Given the description of an element on the screen output the (x, y) to click on. 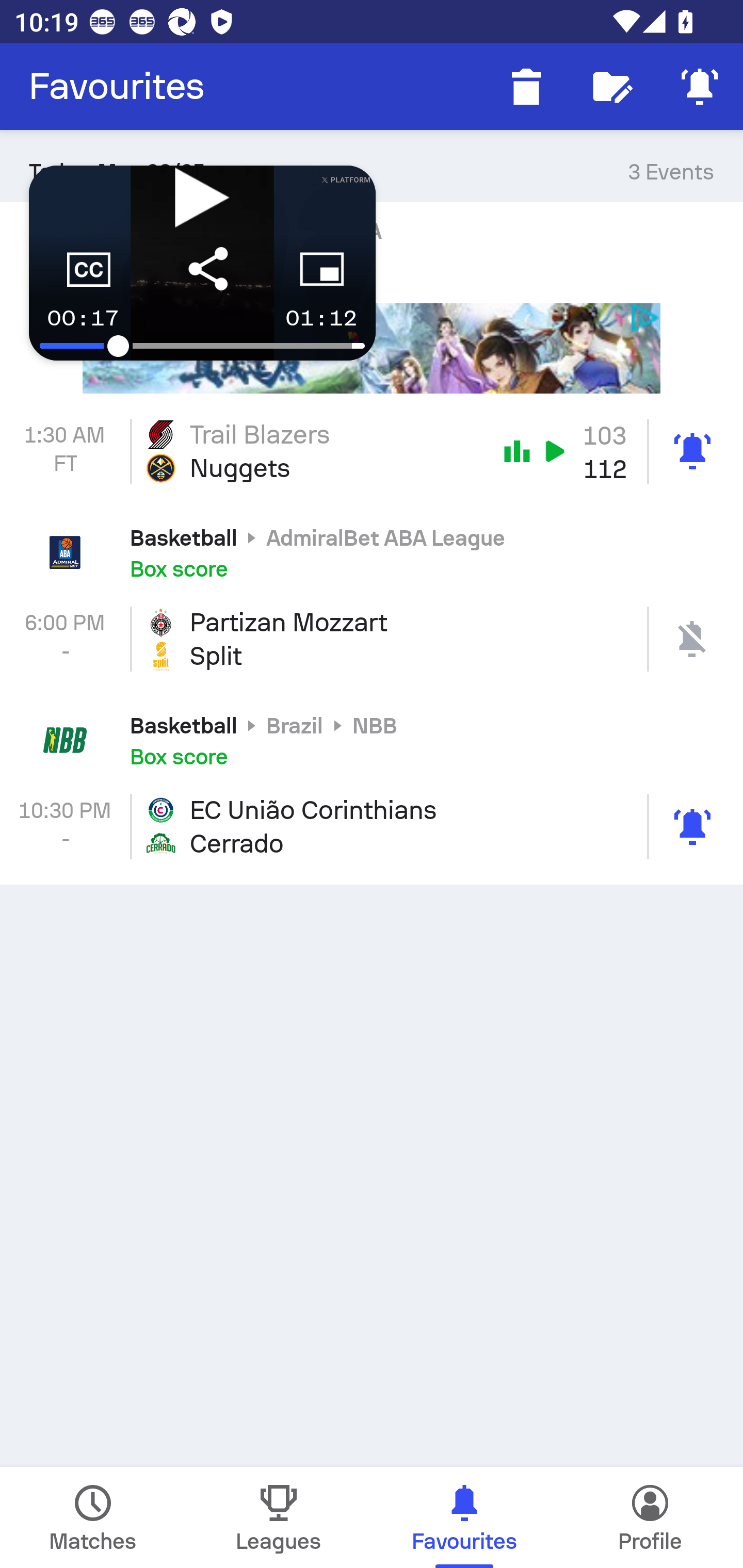
Favourites (116, 86)
Delete finished (525, 86)
Follow editor (612, 86)
Mute Notifications (699, 86)
privacy (645, 317)
1:30 AM FT Trail Blazers Nuggets 103 112 (371, 450)
Basketball AdmiralBet ABA League Box score (371, 552)
6:00 PM - Partizan Mozzart Split (371, 638)
Basketball Brazil NBB Box score (371, 740)
10:30 PM - EC União Corinthians Cerrado (371, 827)
Matches (92, 1517)
Leagues (278, 1517)
Profile (650, 1517)
